Given the description of an element on the screen output the (x, y) to click on. 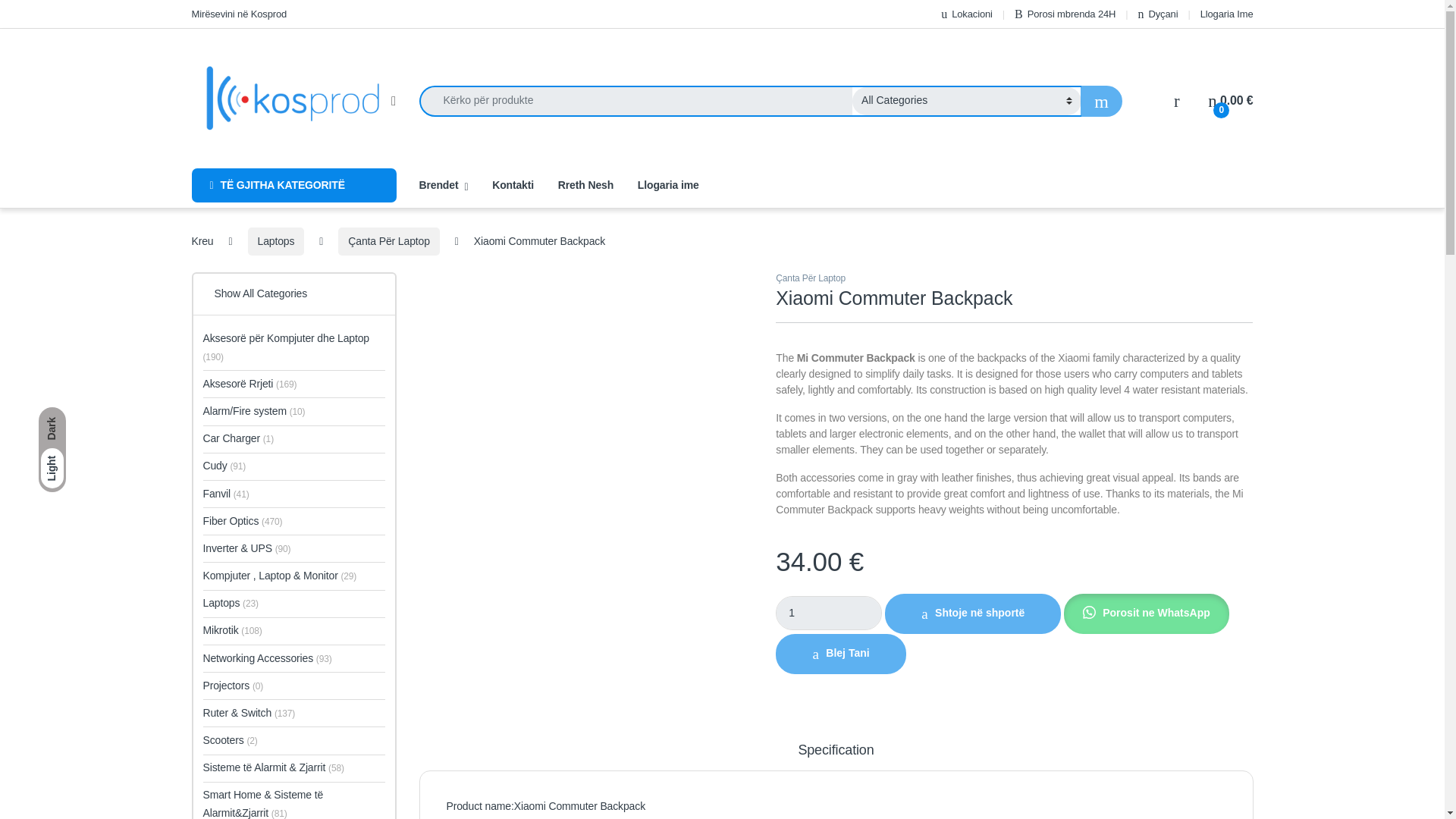
Lokacioni (966, 13)
1 (829, 612)
Porosi mbrenda 24H (1064, 13)
Lokacioni (966, 13)
Llogaria Ime (1226, 13)
Porosi mbrenda 24H (1064, 13)
Llogaria Ime (1226, 13)
